Given the description of an element on the screen output the (x, y) to click on. 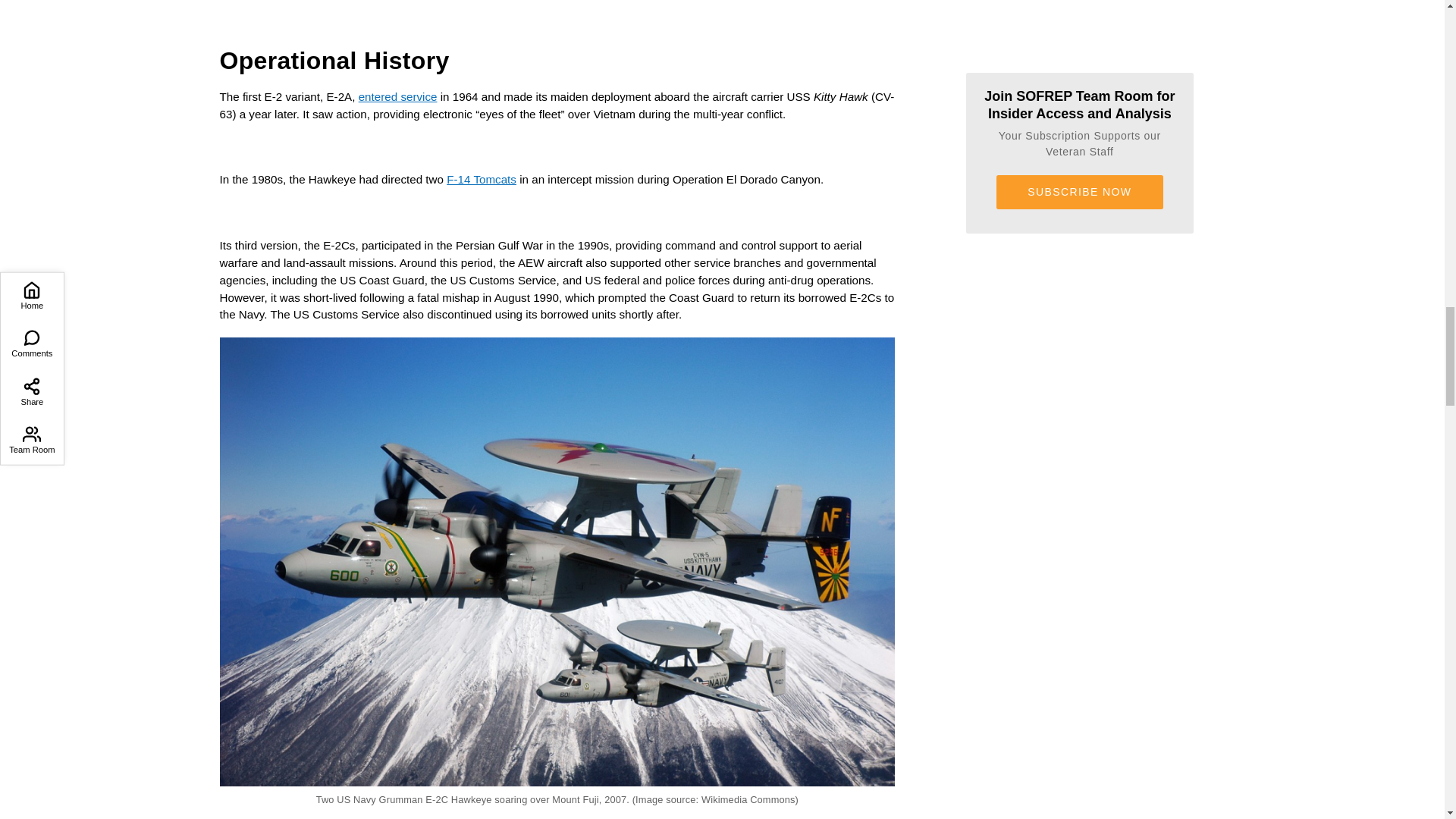
FLOW - The E-2D Advanced Hawkeye Enhancement: Refuel in Air (557, 16)
